Given the description of an element on the screen output the (x, y) to click on. 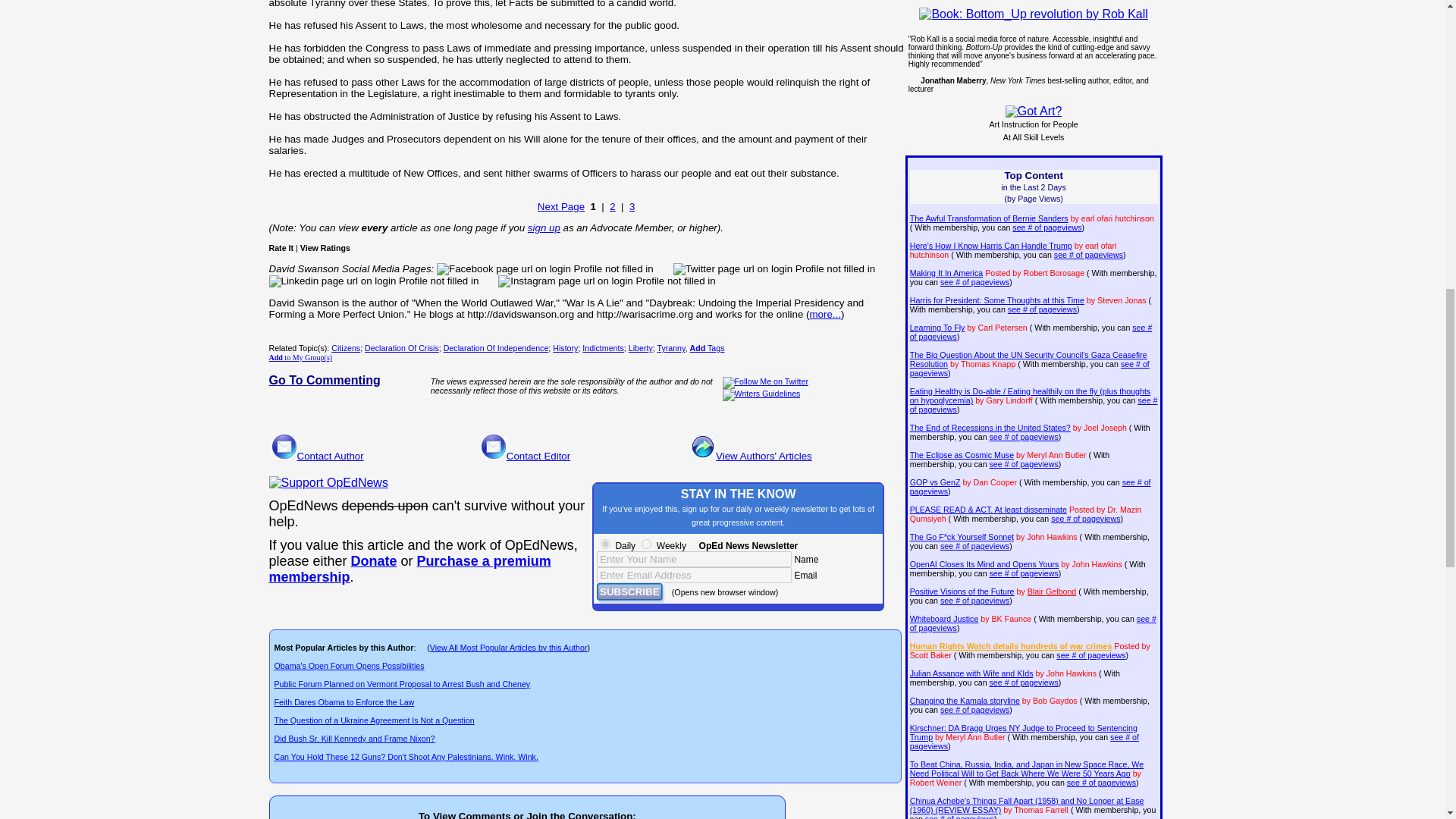
Twitter page url on login Profile not filled in (773, 268)
Linkedin page url on login Profile not filled in (373, 281)
History (565, 347)
sign up (543, 227)
Declaration Of Crisis (402, 347)
more... (824, 314)
Follow Me on Twitter (765, 382)
View Ratings (324, 247)
Support OpEdNews (327, 482)
Instagram page url on login Profile not filled in (605, 281)
Enter Your Name (694, 559)
Daily (604, 543)
3 (631, 206)
Enter Email Address (694, 575)
Liberty (640, 347)
